Given the description of an element on the screen output the (x, y) to click on. 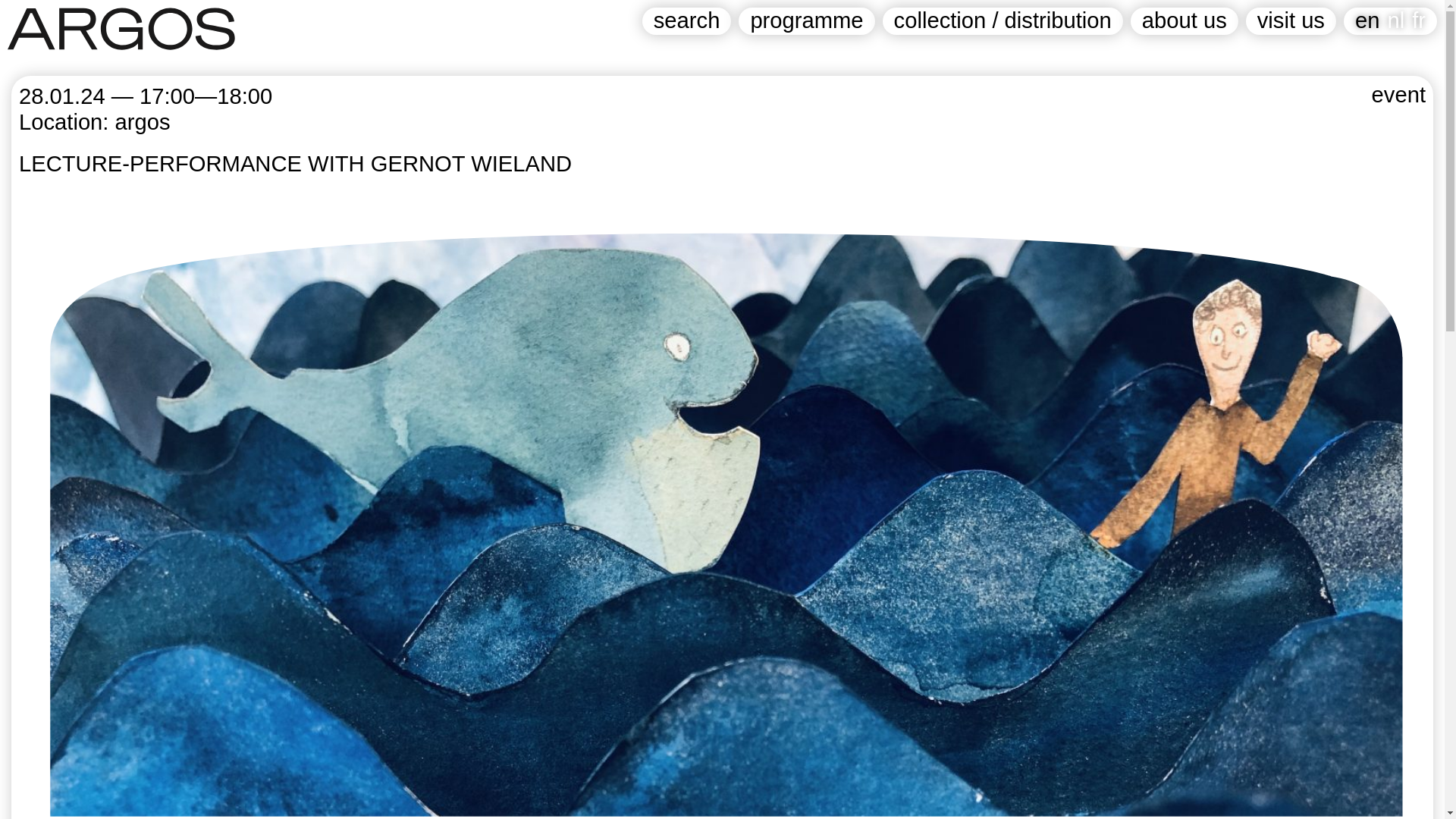
programme (806, 21)
Instagram (118, 773)
en (1367, 20)
visit us (1291, 21)
Privacy policy (204, 773)
D-E-A-L (504, 773)
nl (1395, 20)
search (687, 21)
Facebook (44, 773)
waanz.in (704, 773)
